Given the description of an element on the screen output the (x, y) to click on. 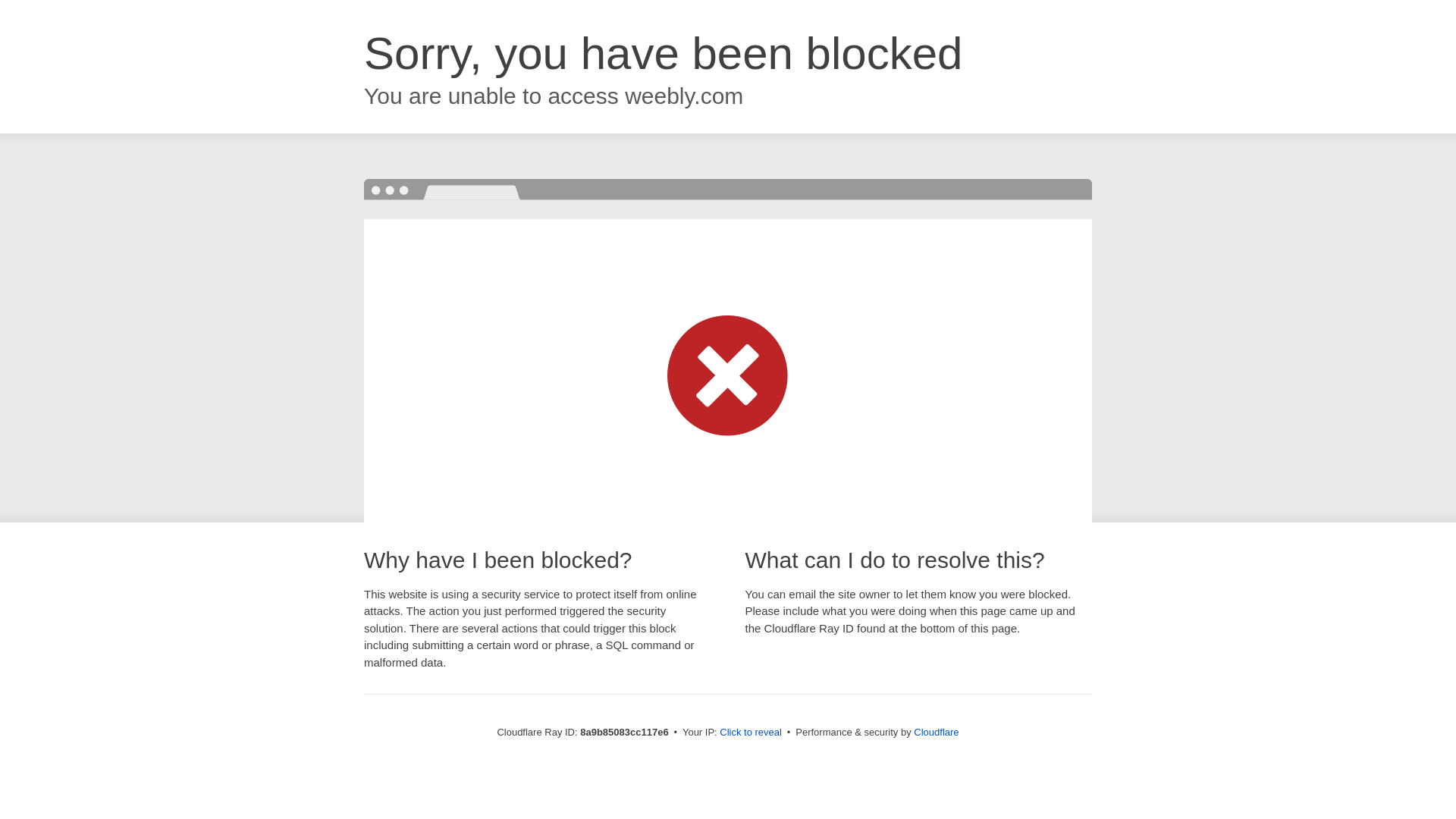
Click to reveal (750, 732)
Cloudflare (936, 731)
